Given the description of an element on the screen output the (x, y) to click on. 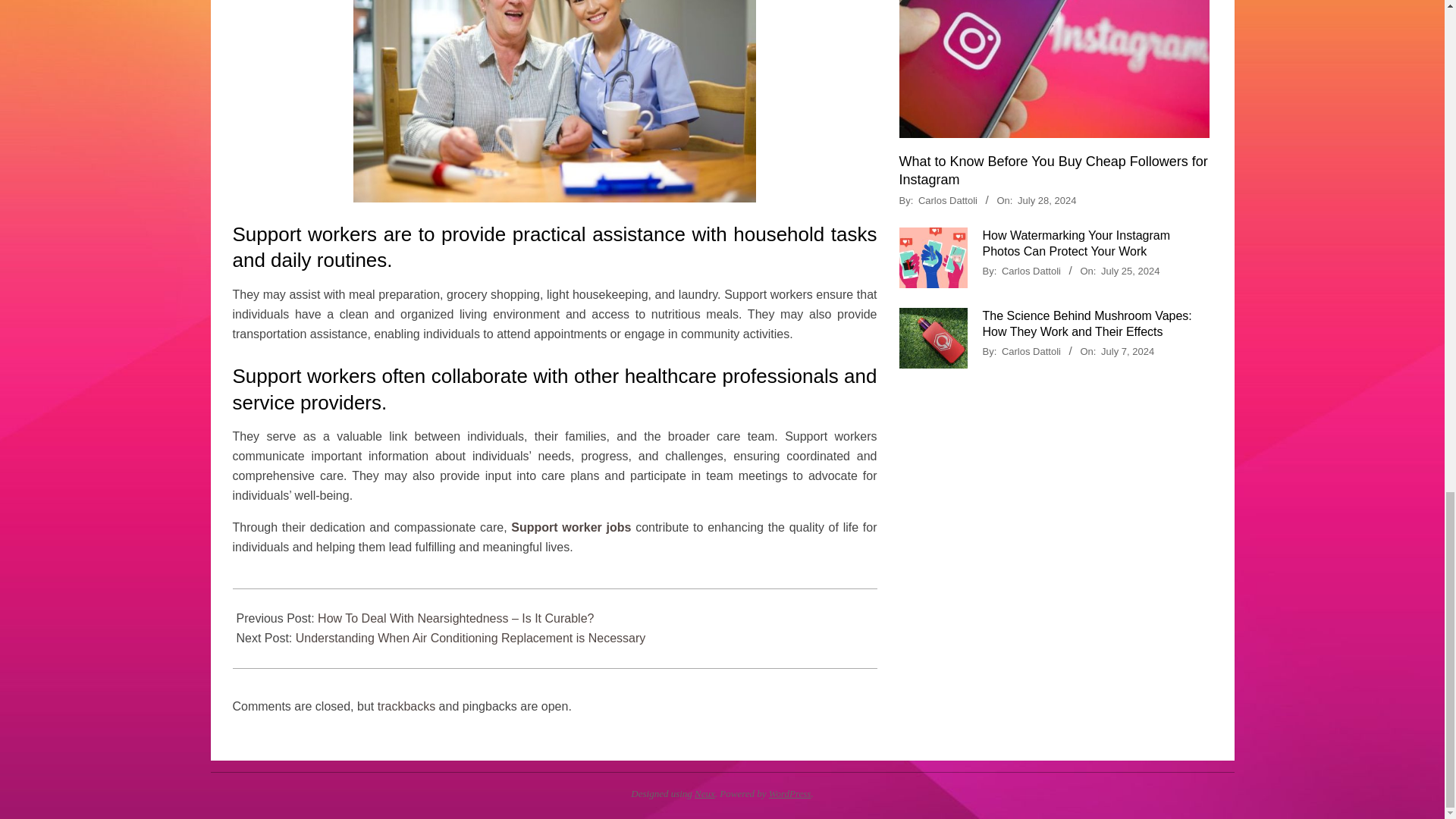
trackbacks (406, 706)
Sunday, July 28, 2024, 12:22 pm (1046, 200)
Posts by Carlos Dattoli (1031, 351)
WordPress (789, 793)
Carlos Dattoli (1031, 270)
Posts by Carlos Dattoli (947, 200)
How Watermarking Your Instagram Photos Can Protect Your Work (1076, 243)
Understanding When Air Conditioning Replacement is Necessary (470, 637)
Neux (704, 793)
